Given the description of an element on the screen output the (x, y) to click on. 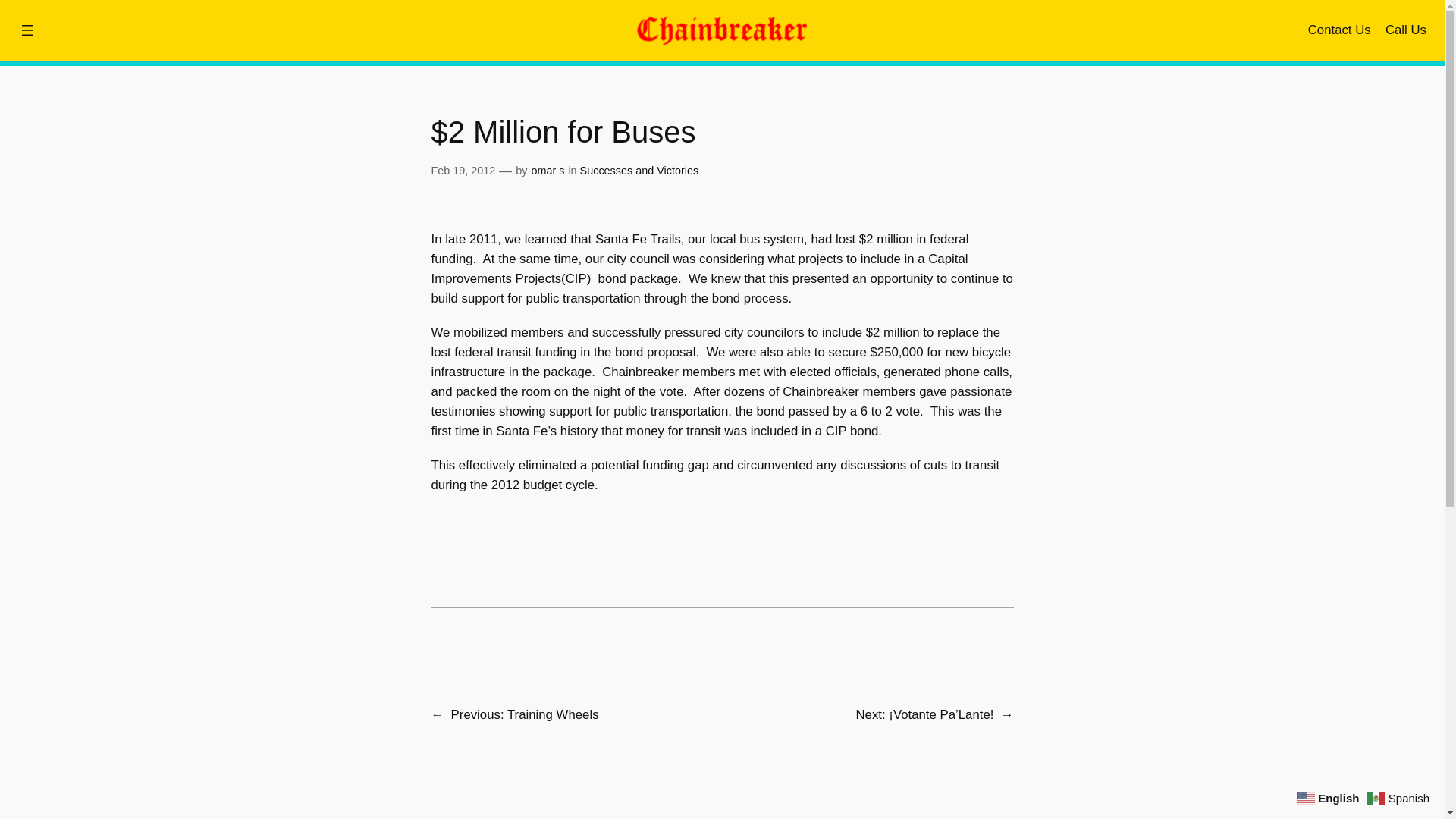
omar s (547, 170)
Feb 19, 2012 (462, 170)
Call Us (1406, 30)
Successes and Victories (638, 170)
Contact Us (1339, 30)
Previous: Training Wheels (524, 714)
